Given the description of an element on the screen output the (x, y) to click on. 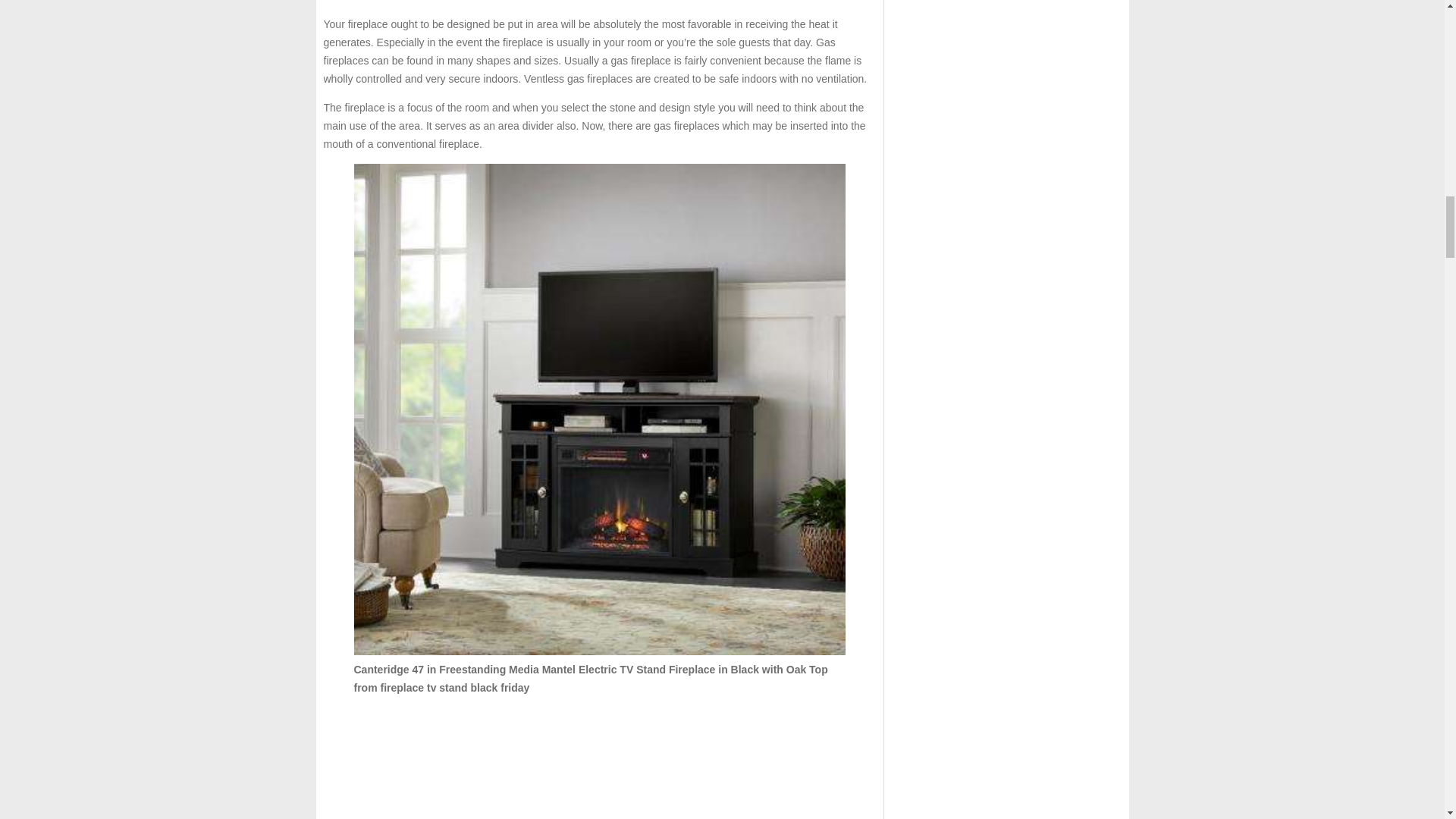
Advertisement (599, 763)
